Given the description of an element on the screen output the (x, y) to click on. 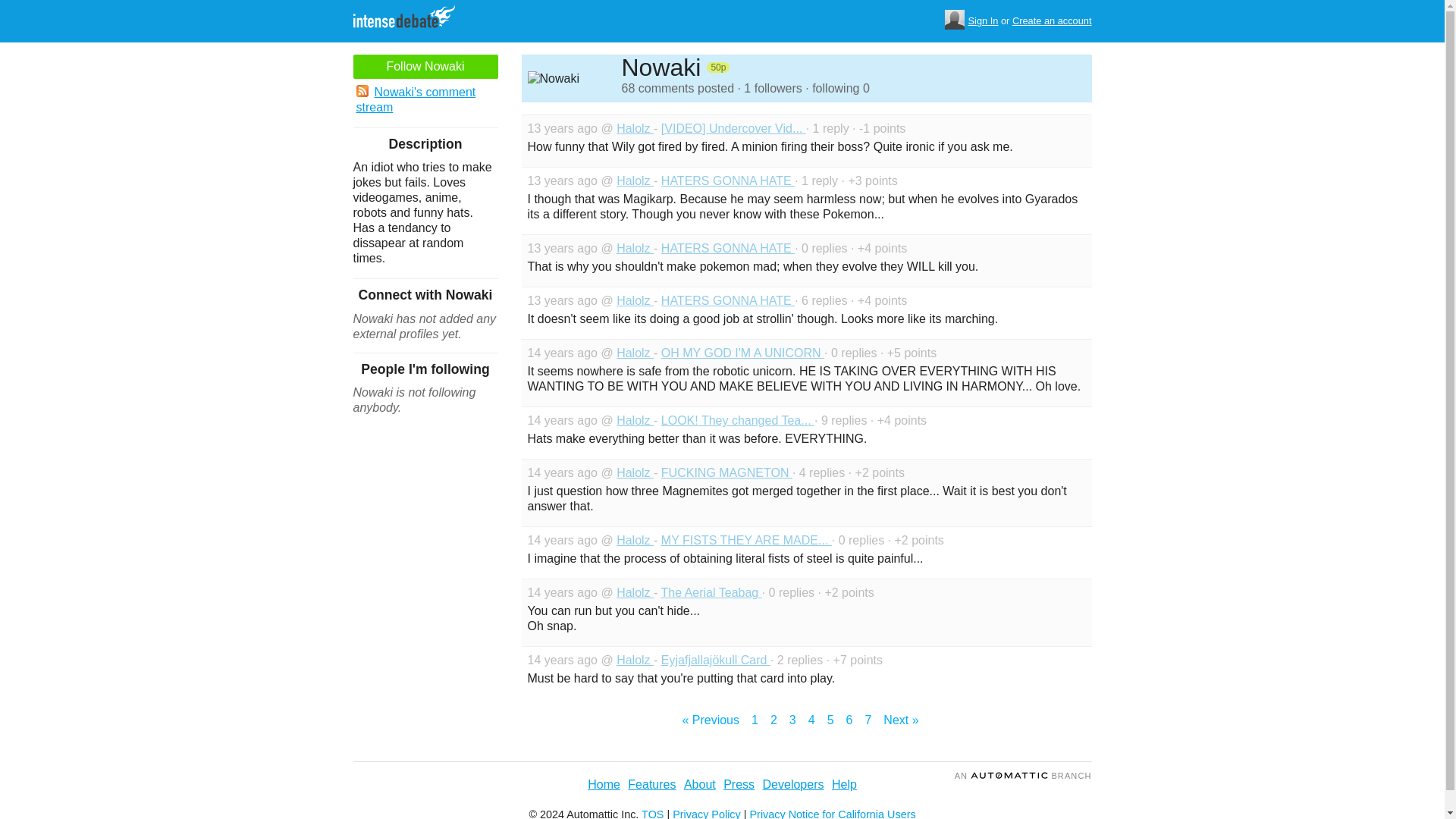
Halolz (634, 352)
The Aerial Teabag (711, 592)
Follow Nowaki (425, 66)
Halolz (634, 540)
3 (792, 720)
OH MY GOD I'M A UNICORN (742, 352)
HATERS GONNA HATE (727, 300)
Halolz (634, 247)
5 (830, 720)
Halolz (634, 128)
Halolz (634, 180)
Nowaki's comment stream (425, 99)
Home (604, 784)
HATERS GONNA HATE (727, 247)
